Given the description of an element on the screen output the (x, y) to click on. 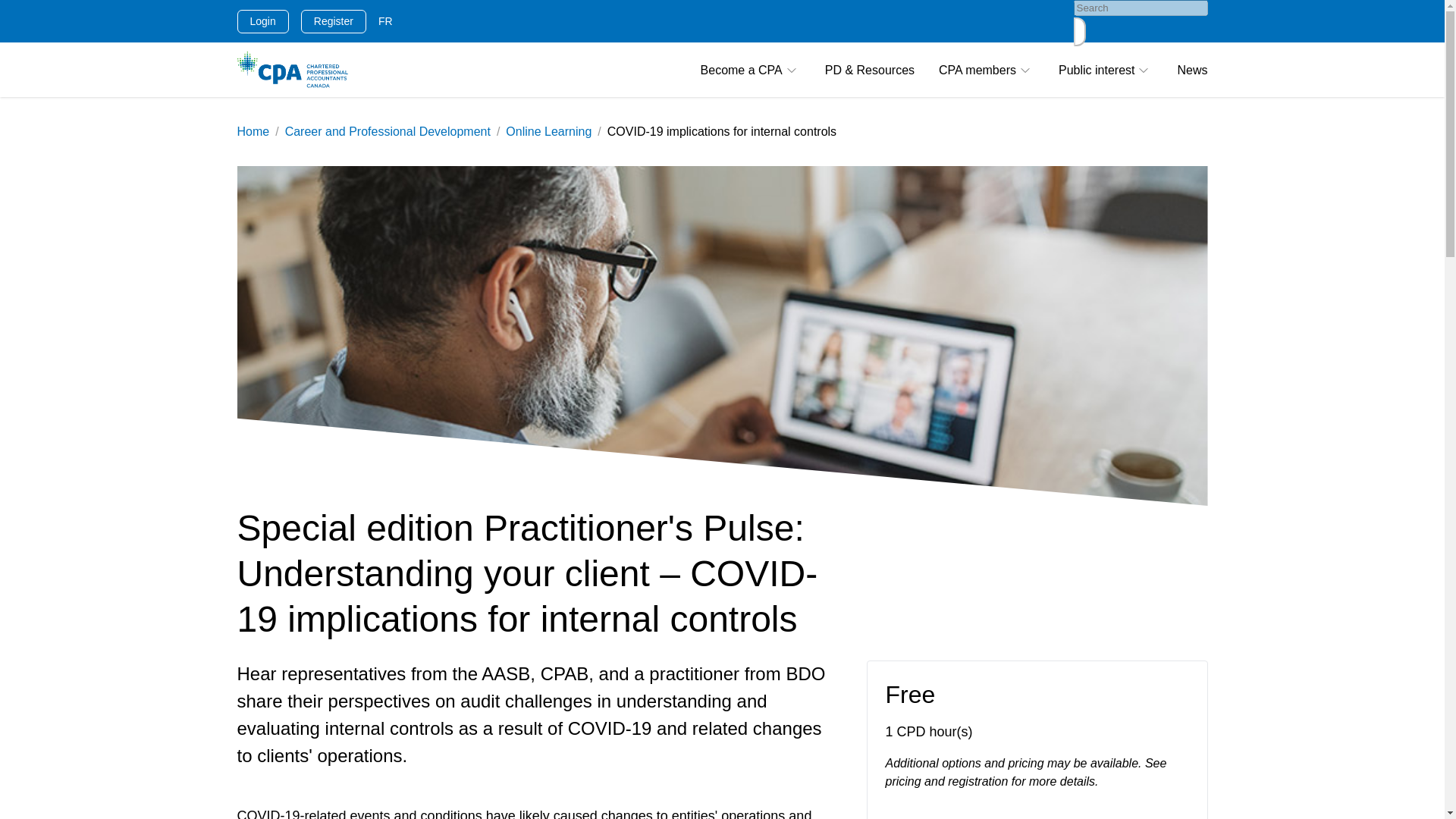
Career and Professional Development (387, 131)
News (1191, 69)
Skip To Main Content (11, 11)
Public interest (1105, 69)
CPA members (986, 69)
FR (385, 21)
Register (333, 20)
Online Learning (548, 131)
CPA (291, 69)
Login (261, 20)
